Given the description of an element on the screen output the (x, y) to click on. 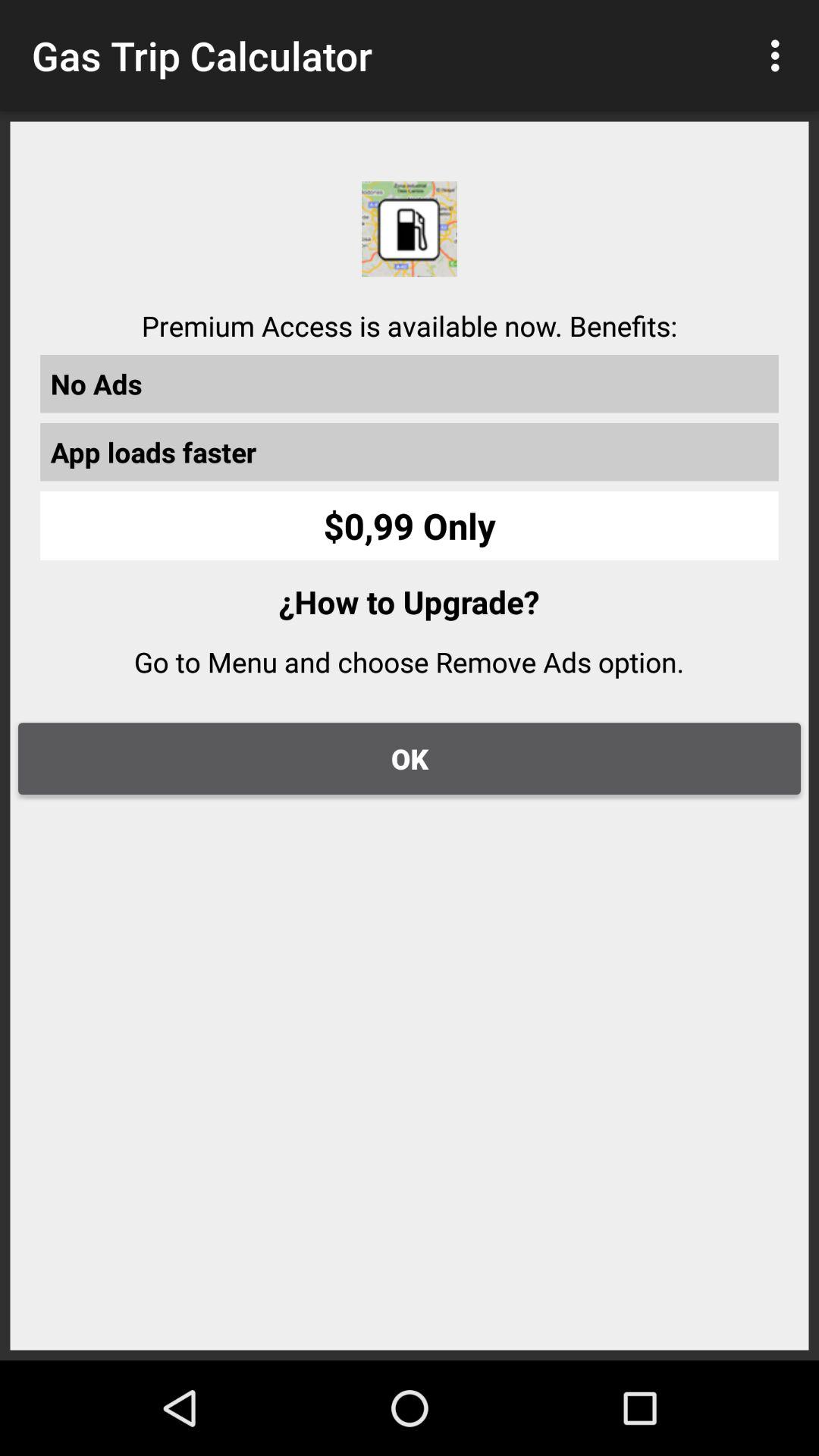
open the ok icon (409, 758)
